Given the description of an element on the screen output the (x, y) to click on. 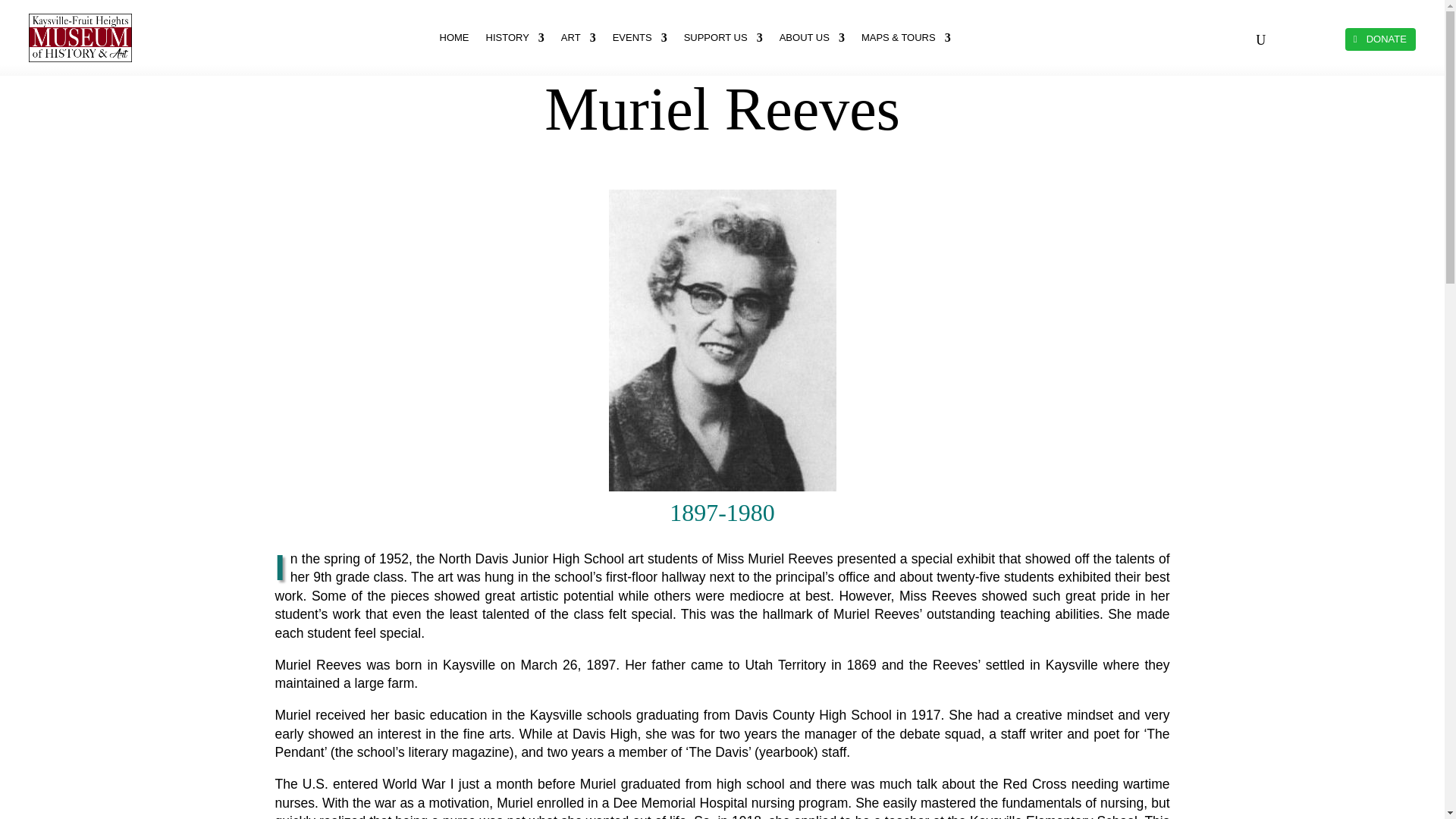
HISTORY (515, 37)
EVENTS (639, 37)
ART (577, 37)
SUPPORT US (723, 37)
ABOUT US (811, 37)
HOME (453, 37)
sarah-taylor-coombs1 (721, 340)
